Given the description of an element on the screen output the (x, y) to click on. 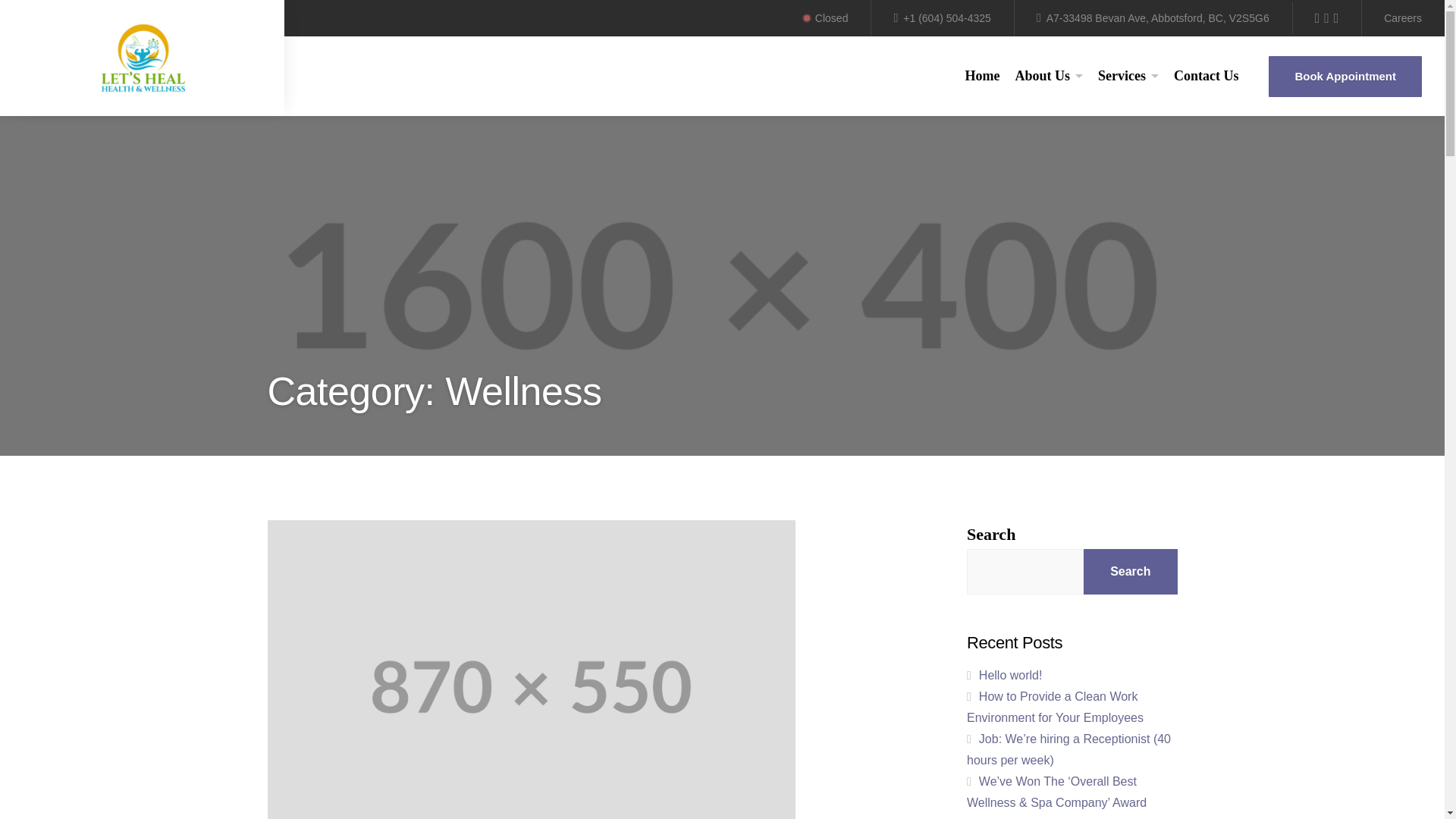
Search (1085, 438)
Book Appointment (1345, 76)
A7-33498 Bevan Ave, Abbotsford, BC, V2S5G6 (1152, 18)
Careers (1403, 18)
LetsHealHealthAndWellness (142, 57)
